Given the description of an element on the screen output the (x, y) to click on. 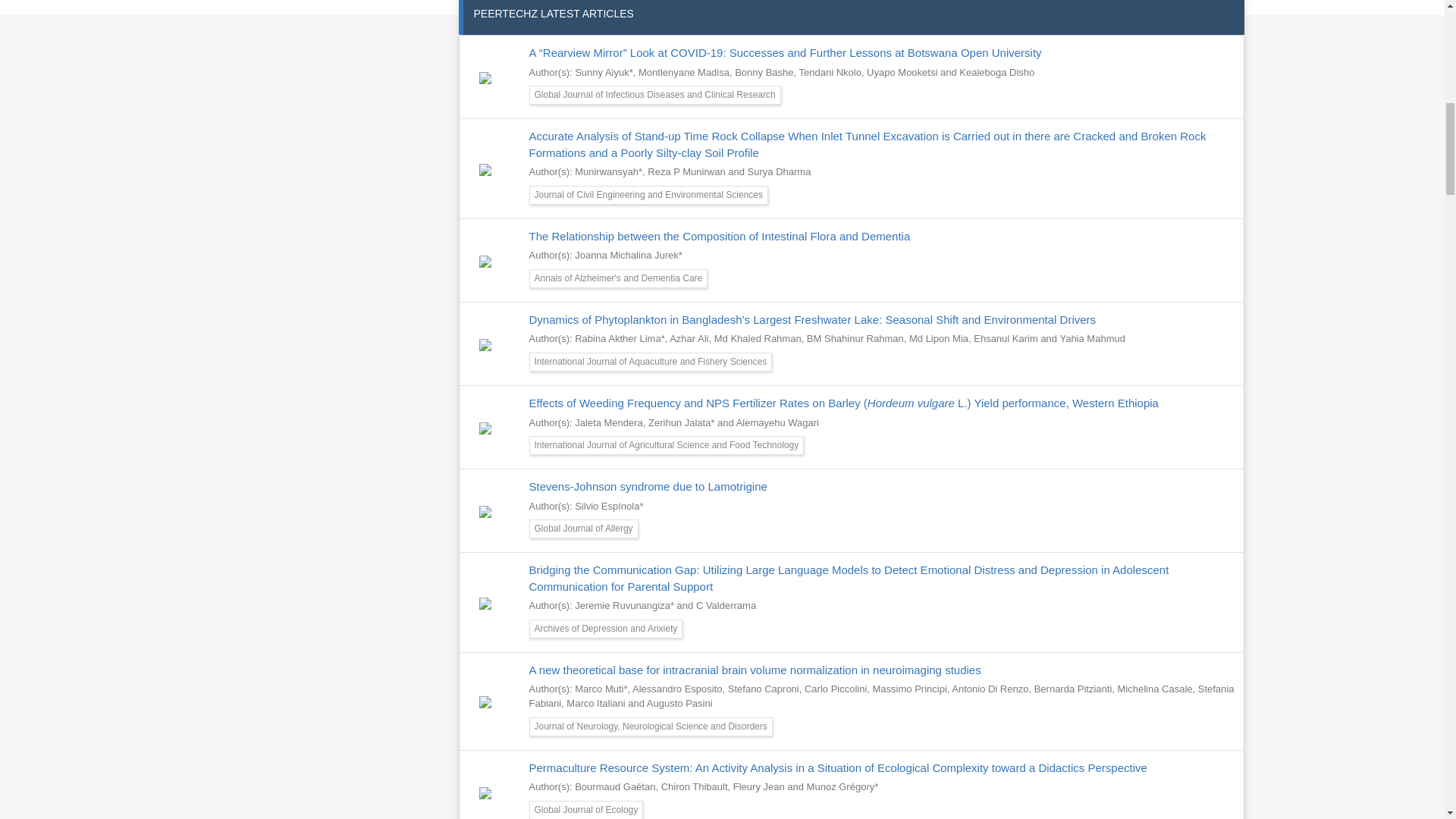
Archives of Clinical Gastroenterology (1122, 7)
Archives of Clinical Nephrology (1122, 78)
Journal of Clinical Research and Ophthalmology (1122, 104)
International Journal of Dermatology and Clinical Research (1122, 130)
Journal of Gynecological Research and Obstetrics (1122, 155)
Archives of Clinical Hypertension (1122, 53)
